Given the description of an element on the screen output the (x, y) to click on. 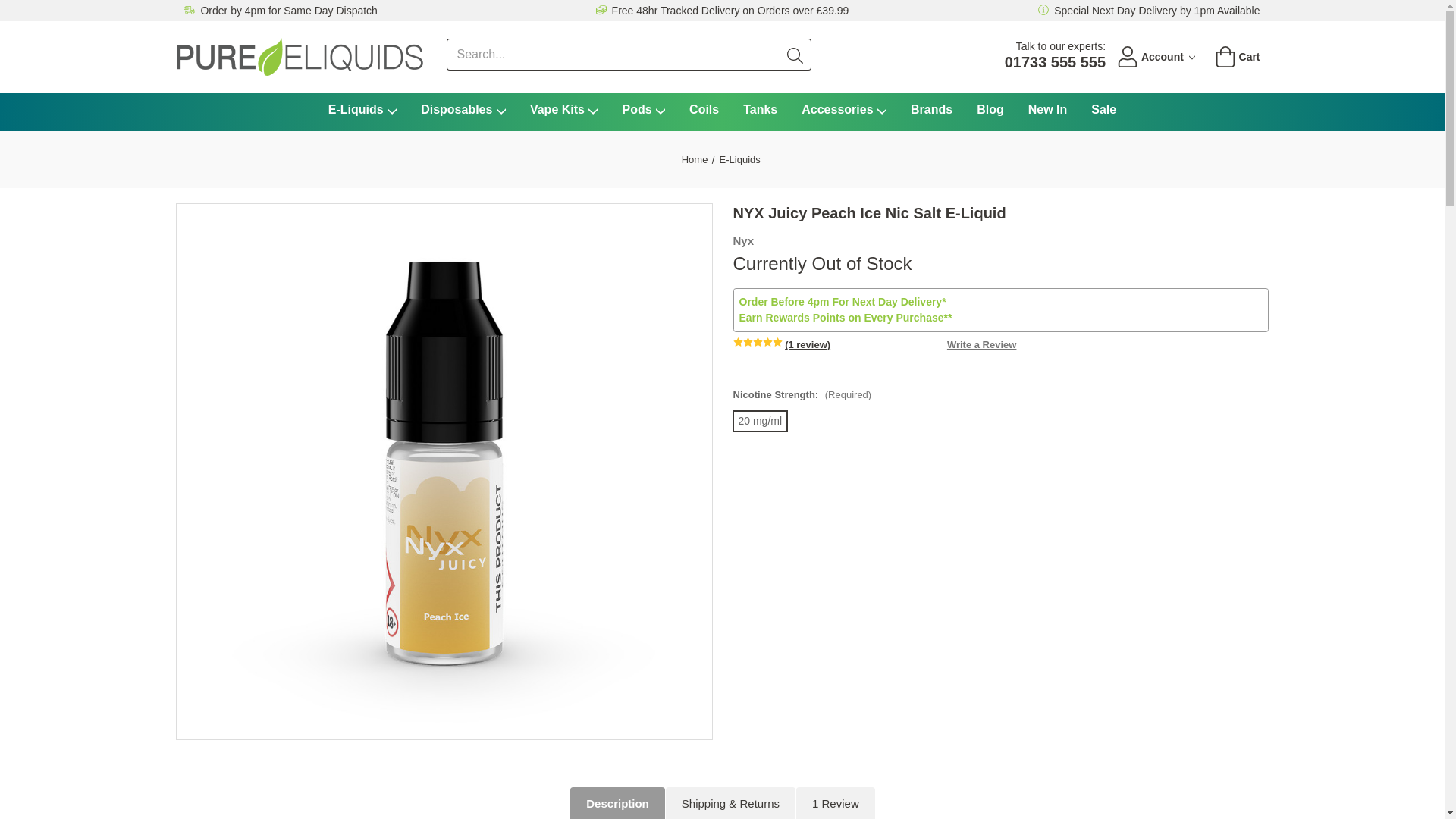
Account (1156, 56)
Cart (1237, 56)
Pure E-Liquids (299, 56)
E-Liquids (362, 111)
